Given the description of an element on the screen output the (x, y) to click on. 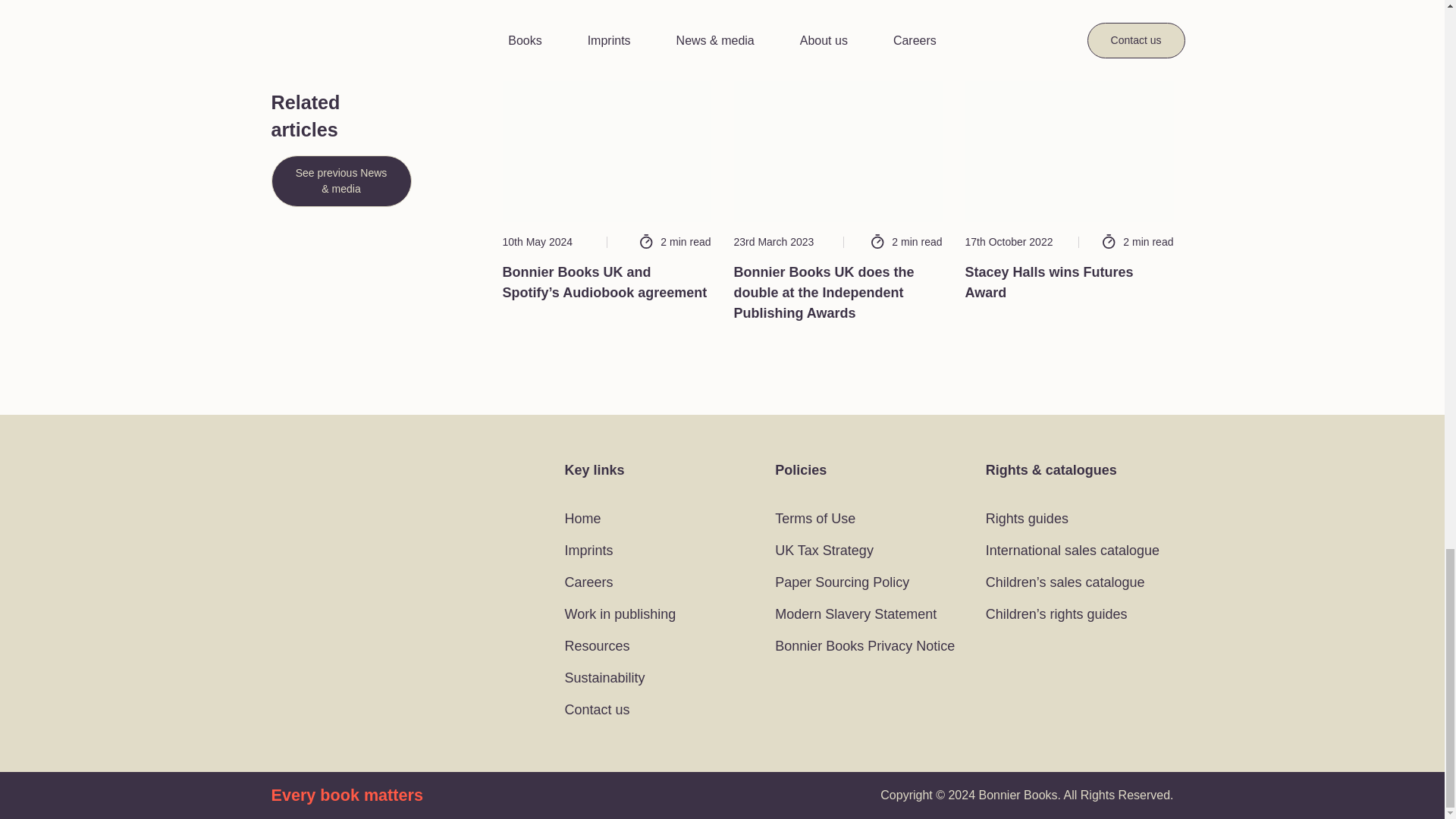
Click to visit the Bonnier Books LinkedIn page (350, 525)
Sustainability  (605, 678)
Work in publishing (619, 614)
Resources (596, 646)
Imprints (588, 550)
Contact us (596, 710)
Terms of Use (815, 518)
Home (581, 518)
Click to visit the Bonnier Books Twitter page (282, 525)
Paper Sourcing Policy (841, 582)
